Given the description of an element on the screen output the (x, y) to click on. 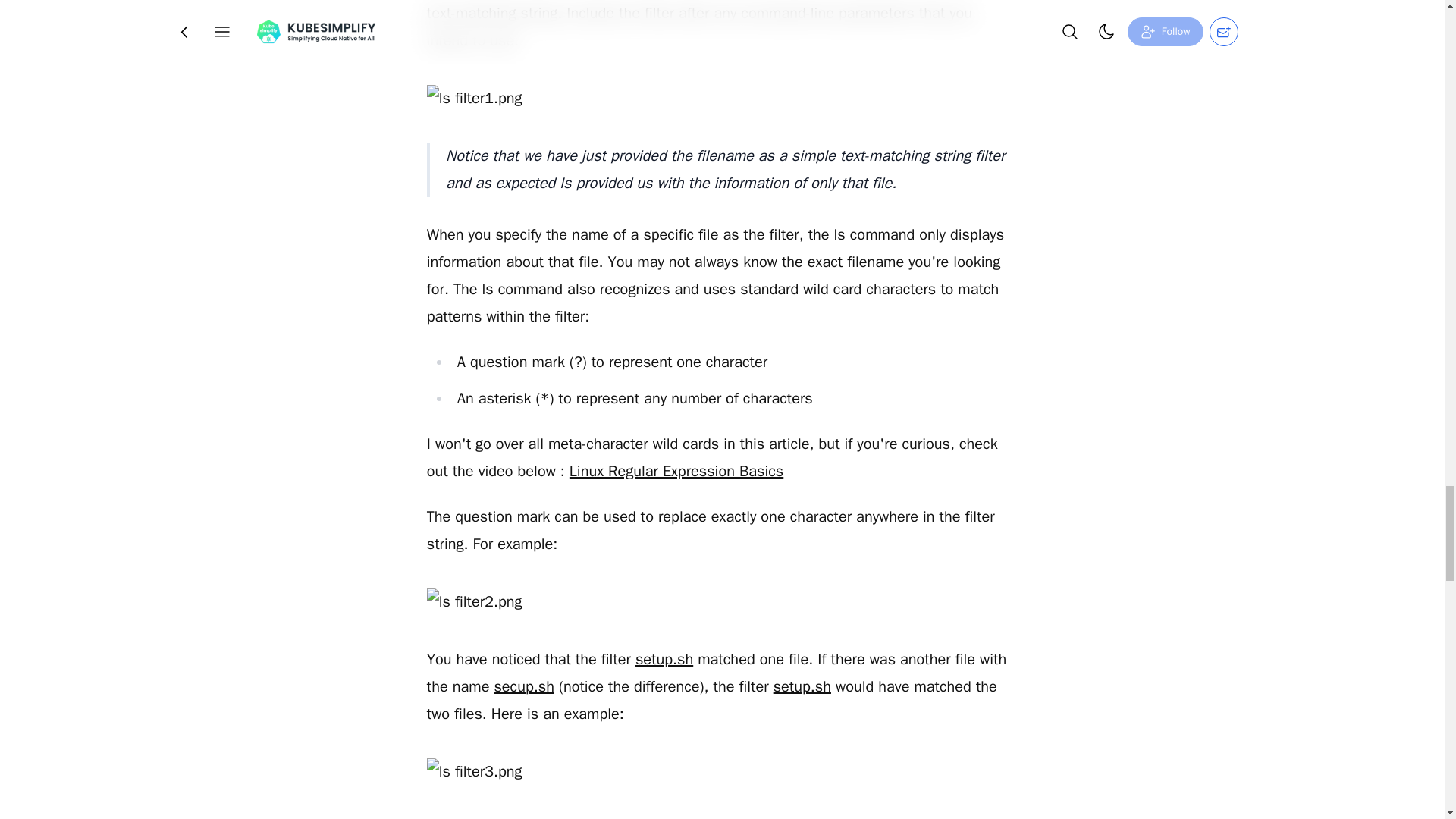
Linux Regular Expression Basics (676, 470)
secup.sh (523, 686)
setup.sh (663, 659)
